Given the description of an element on the screen output the (x, y) to click on. 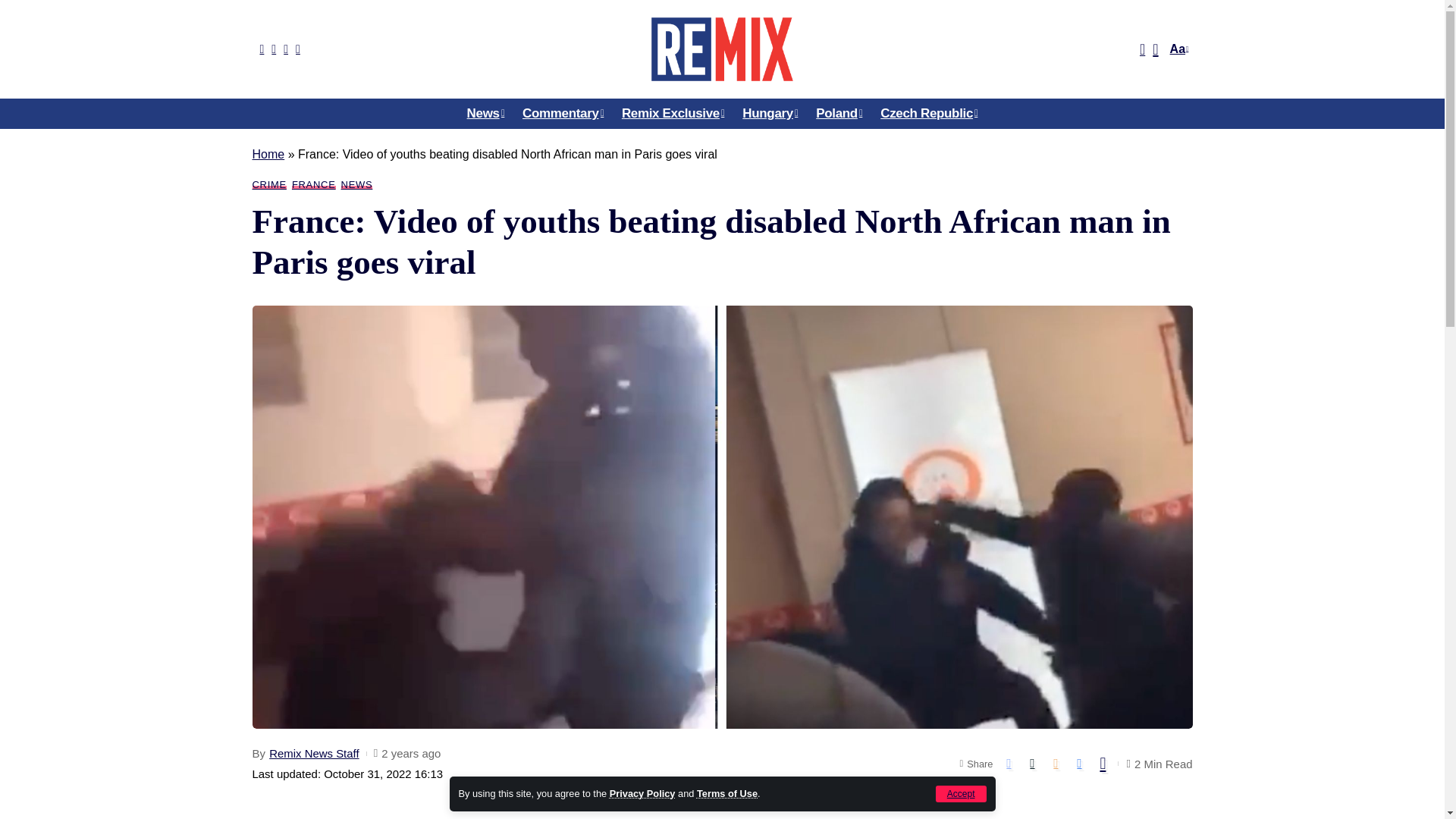
News (485, 113)
Commentary (562, 113)
Remix Exclusive (672, 113)
Terms of Use (727, 793)
Remix News (721, 48)
Accept (961, 793)
Aa (1177, 48)
Privacy Policy (642, 793)
